Given the description of an element on the screen output the (x, y) to click on. 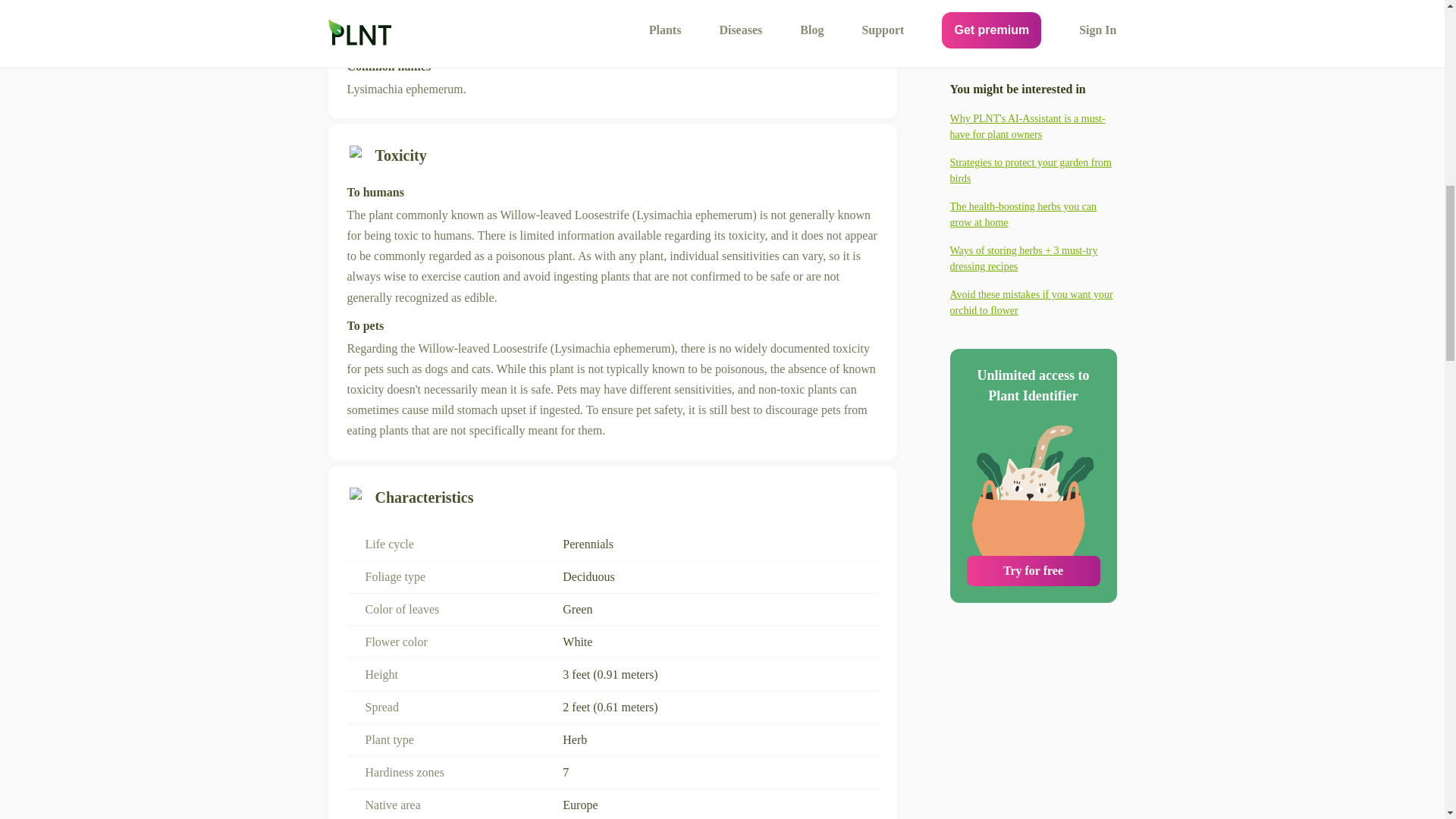
Try for free (1032, 261)
Avoid these mistakes if you want your orchid to flower (1032, 4)
